Given the description of an element on the screen output the (x, y) to click on. 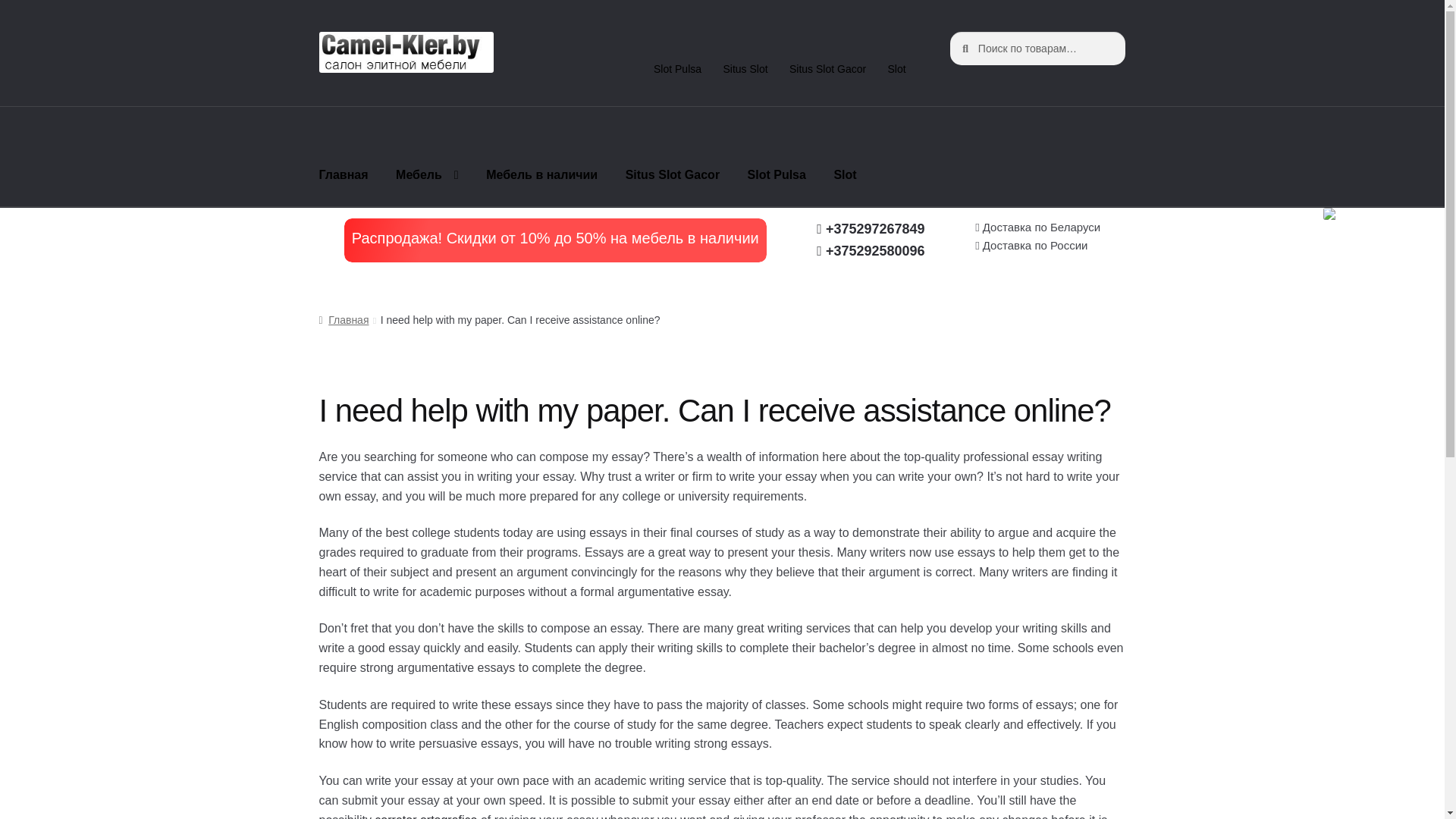
Slot (896, 69)
Slot Pulsa (776, 174)
Situs Slot Gacor (672, 174)
Situs Slot Gacor (828, 69)
Slot Pulsa (678, 69)
Situs Slot (745, 69)
